Given the description of an element on the screen output the (x, y) to click on. 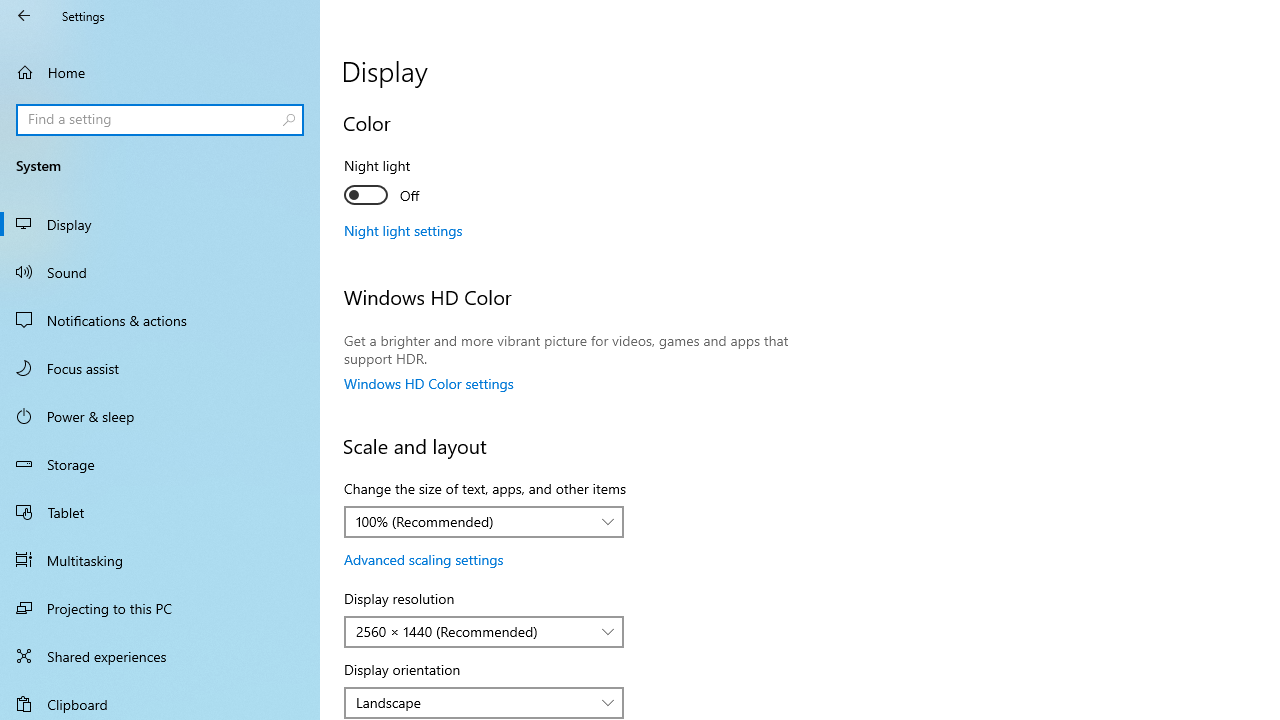
Advanced scaling settings (424, 559)
Back (24, 15)
Night light settings (403, 230)
Multitasking (160, 559)
Search box, Find a setting (160, 119)
Display orientation (484, 702)
Projecting to this PC (160, 607)
